Given the description of an element on the screen output the (x, y) to click on. 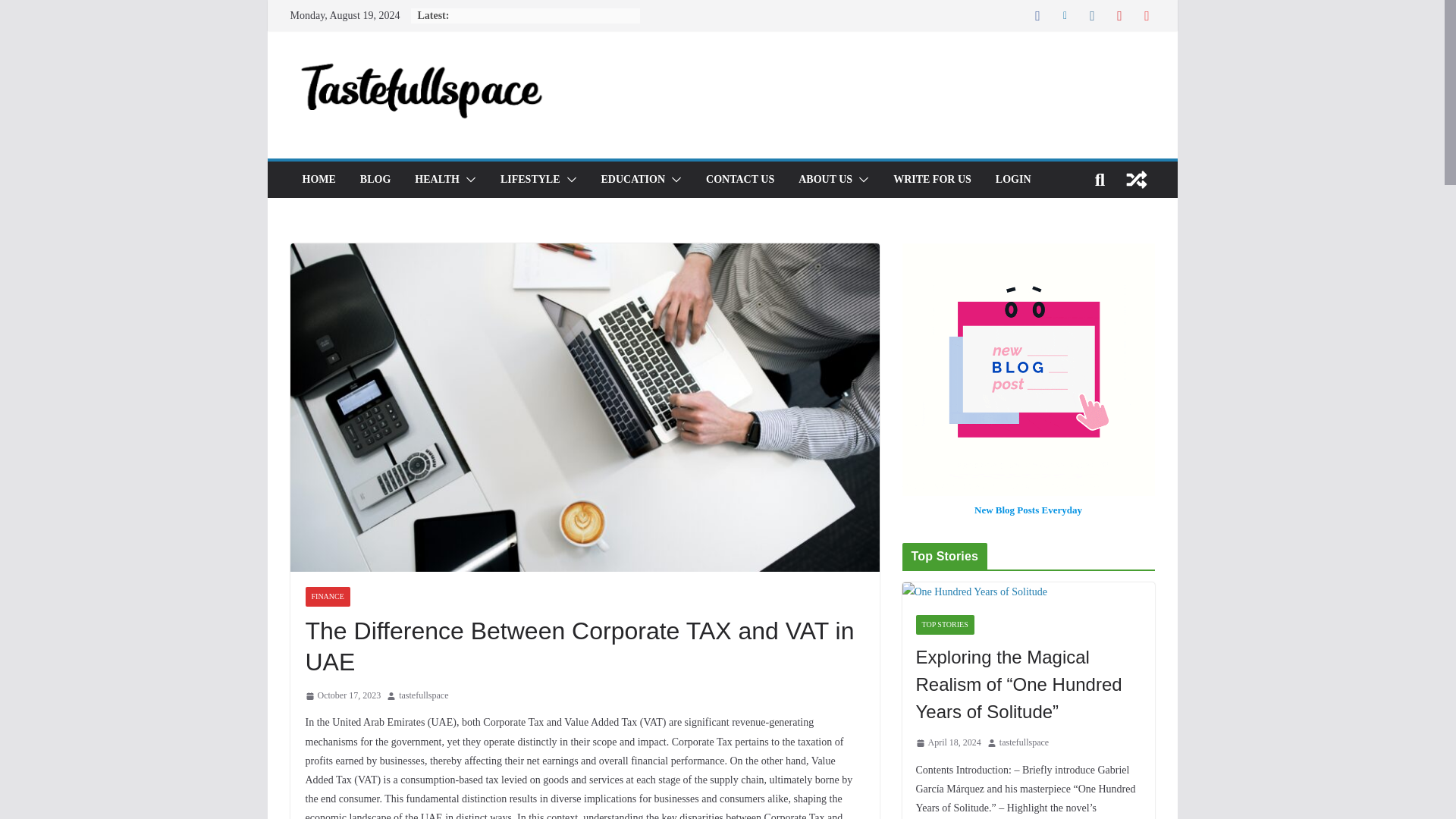
View a random post (1136, 179)
HOME (317, 179)
HEALTH (437, 179)
EDUCATION (633, 179)
11:05 am (342, 695)
LOGIN (1012, 179)
LIFESTYLE (530, 179)
ABOUT US (824, 179)
CONTACT US (740, 179)
